Given the description of an element on the screen output the (x, y) to click on. 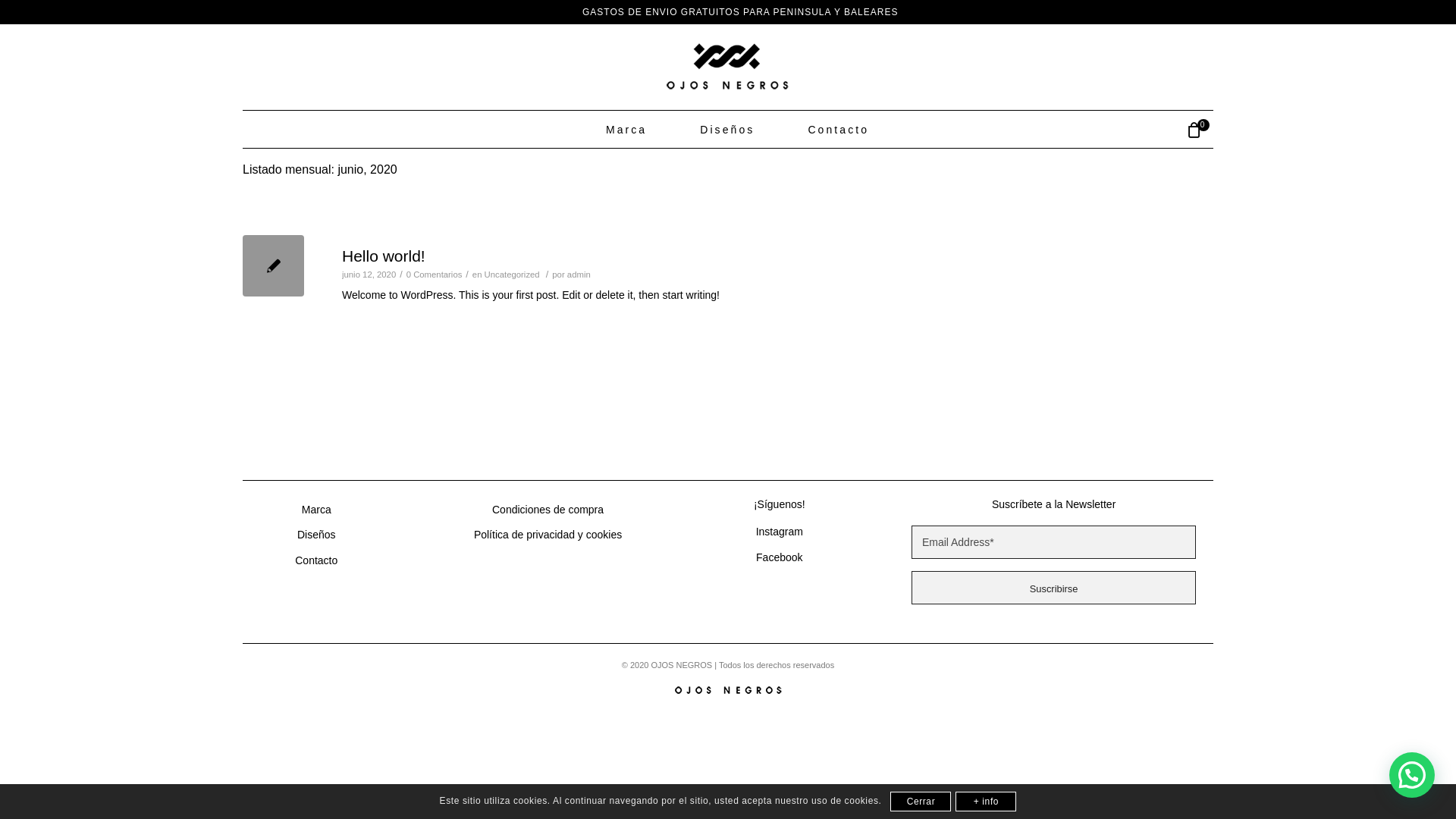
Cerrar Element type: text (920, 801)
Contacto Element type: text (838, 129)
Instagram Element type: text (779, 532)
Contacto Element type: text (315, 561)
Condiciones de compra Element type: text (547, 510)
logo-footer2 Element type: hover (727, 688)
Hello world! Element type: hover (273, 265)
Uncategorized Element type: text (511, 274)
Suscribirse Element type: text (1053, 587)
+ info Element type: text (985, 801)
0 Comentarios Element type: text (434, 274)
Hello world! Element type: text (383, 255)
Marca Element type: text (316, 510)
Marca Element type: text (626, 129)
admin Element type: text (578, 274)
Facebook Element type: text (779, 558)
